Given the description of an element on the screen output the (x, y) to click on. 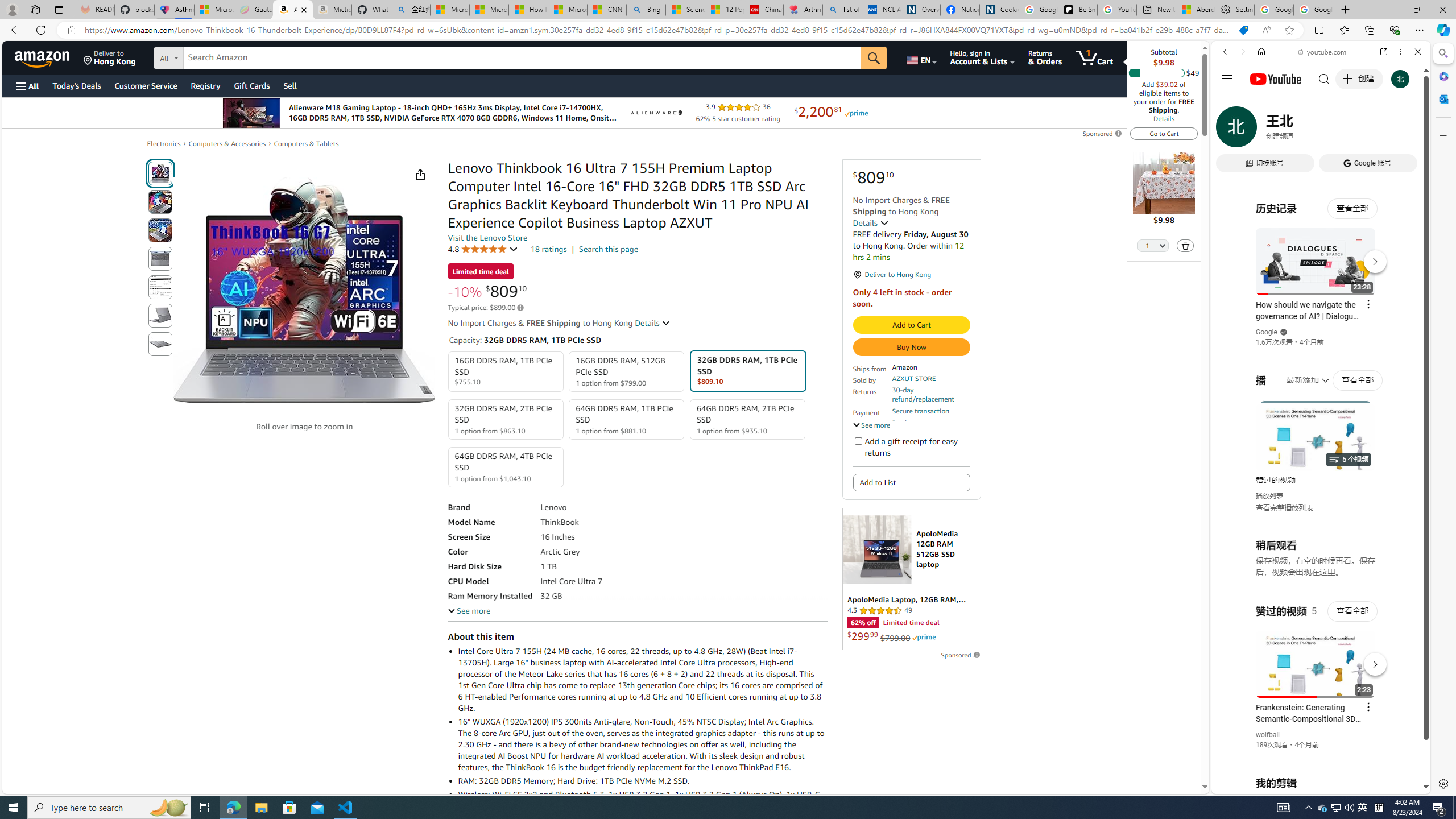
YouTube (1315, 655)
Show More Music (1390, 310)
